Given the description of an element on the screen output the (x, y) to click on. 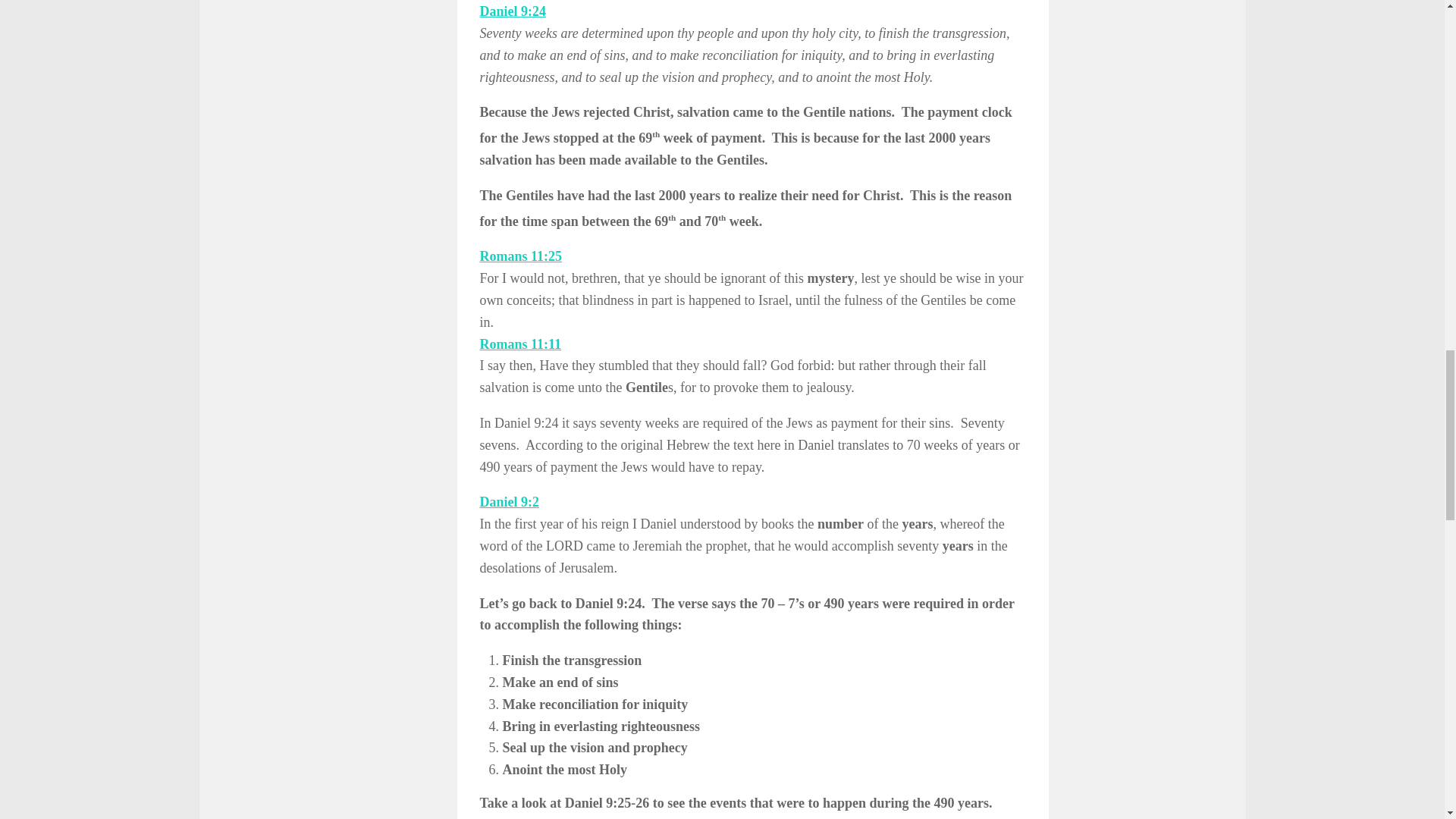
Daniel 9:24 (512, 11)
Daniel 9:2 (508, 501)
Romans 11:11 (519, 344)
Romans 11:25 (520, 255)
